Given the description of an element on the screen output the (x, y) to click on. 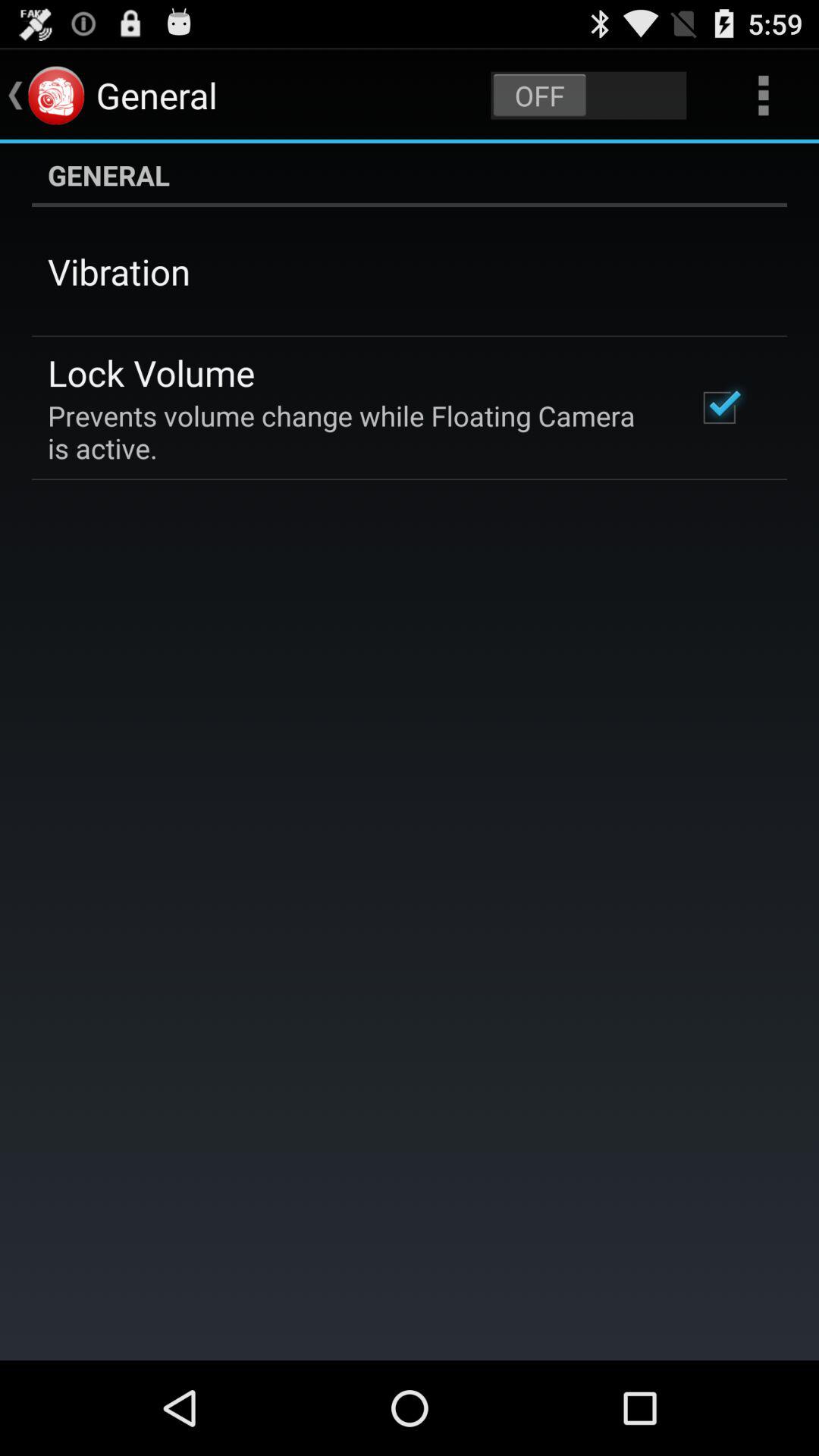
choose app below vibration app (150, 372)
